Given the description of an element on the screen output the (x, y) to click on. 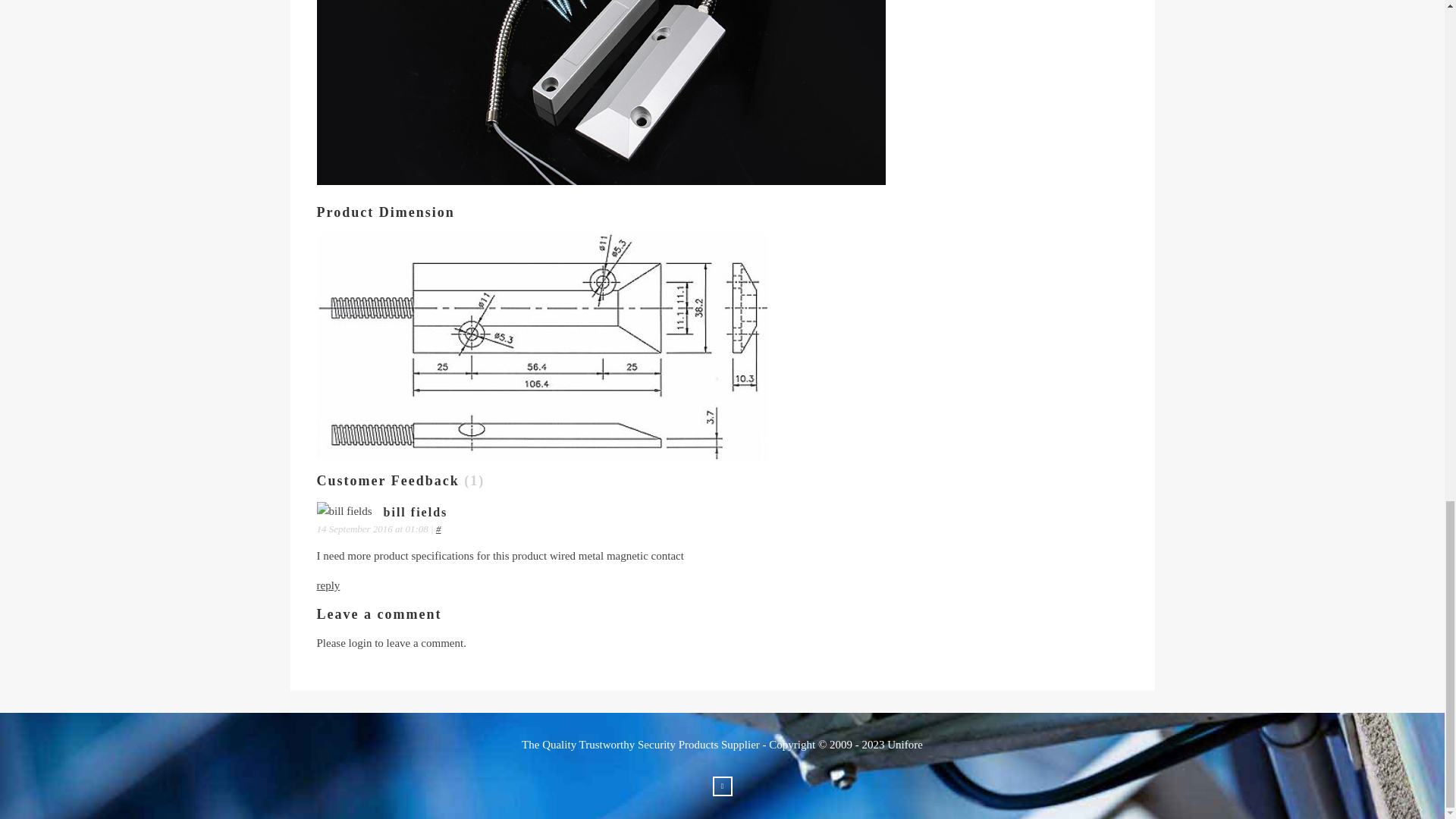
RZ-55Z Metal Magnetic Contact (601, 92)
reply (328, 585)
bill fields (344, 511)
